Given the description of an element on the screen output the (x, y) to click on. 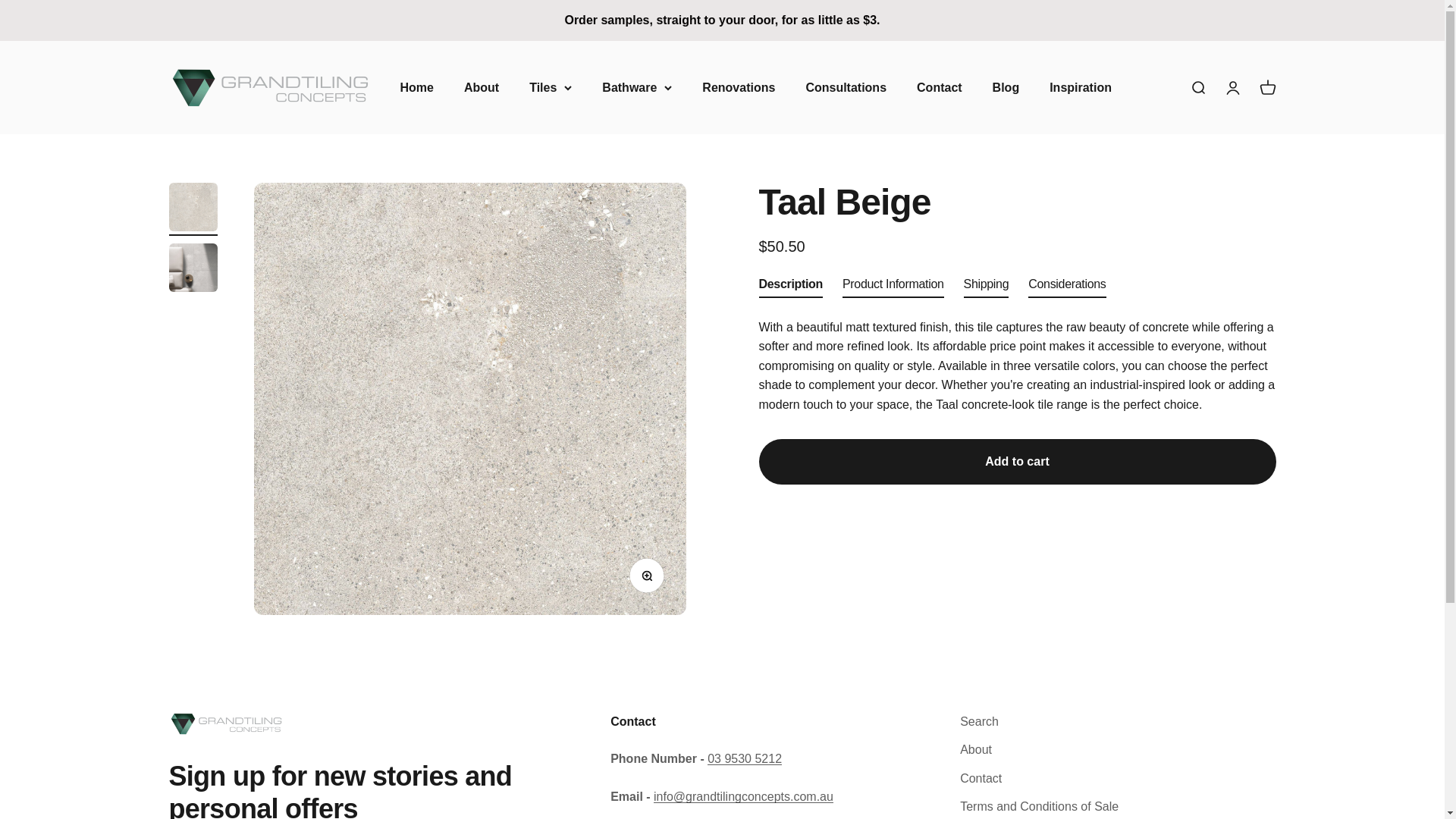
About (481, 86)
tel:0395305212 (744, 758)
Open account page (1232, 86)
Home (1267, 86)
Contact (416, 86)
Inspiration (939, 86)
Renovations (1080, 86)
Grand Tiling Concepts (737, 86)
Blog (268, 87)
Open search (1006, 86)
Consultations (1197, 86)
